Given the description of an element on the screen output the (x, y) to click on. 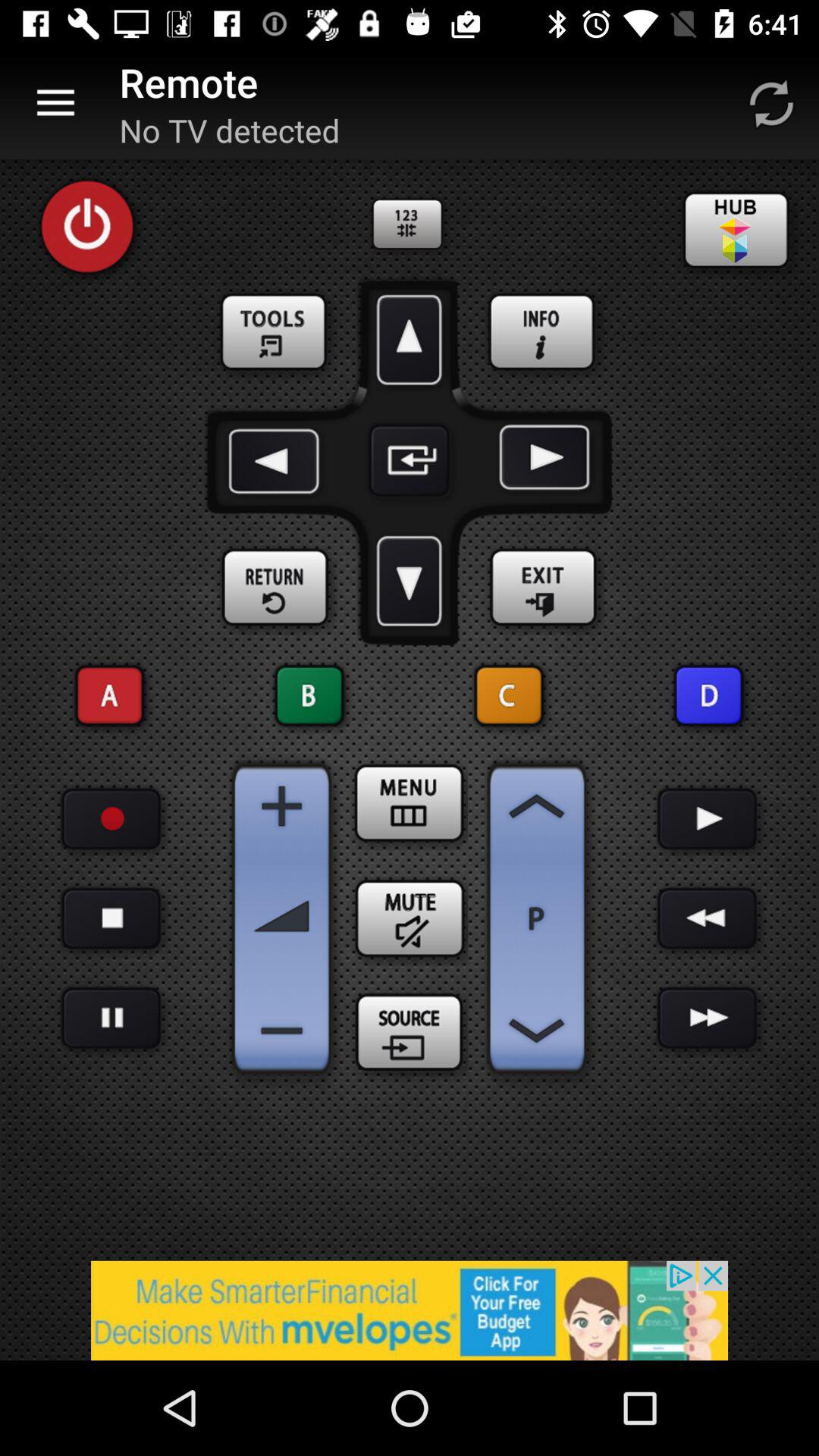
up (409, 339)
